Given the description of an element on the screen output the (x, y) to click on. 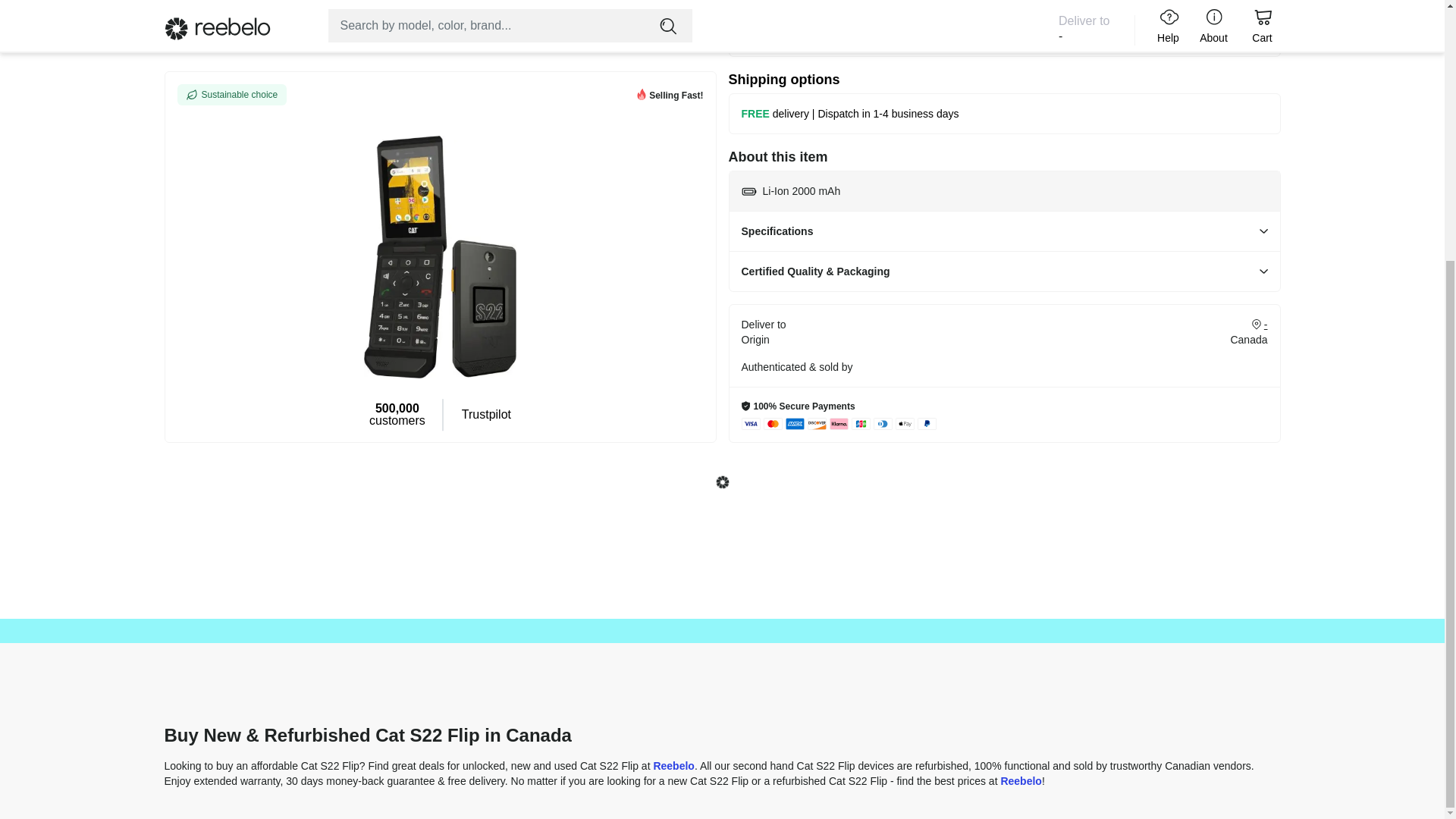
Trustpilot (486, 78)
Reebelo (673, 766)
PayPal (926, 423)
JCB (859, 423)
Reebelo (1020, 780)
Mastercard (771, 423)
Diners Club (882, 423)
Discover (815, 423)
American Express (795, 423)
Specifications (1004, 230)
